Given the description of an element on the screen output the (x, y) to click on. 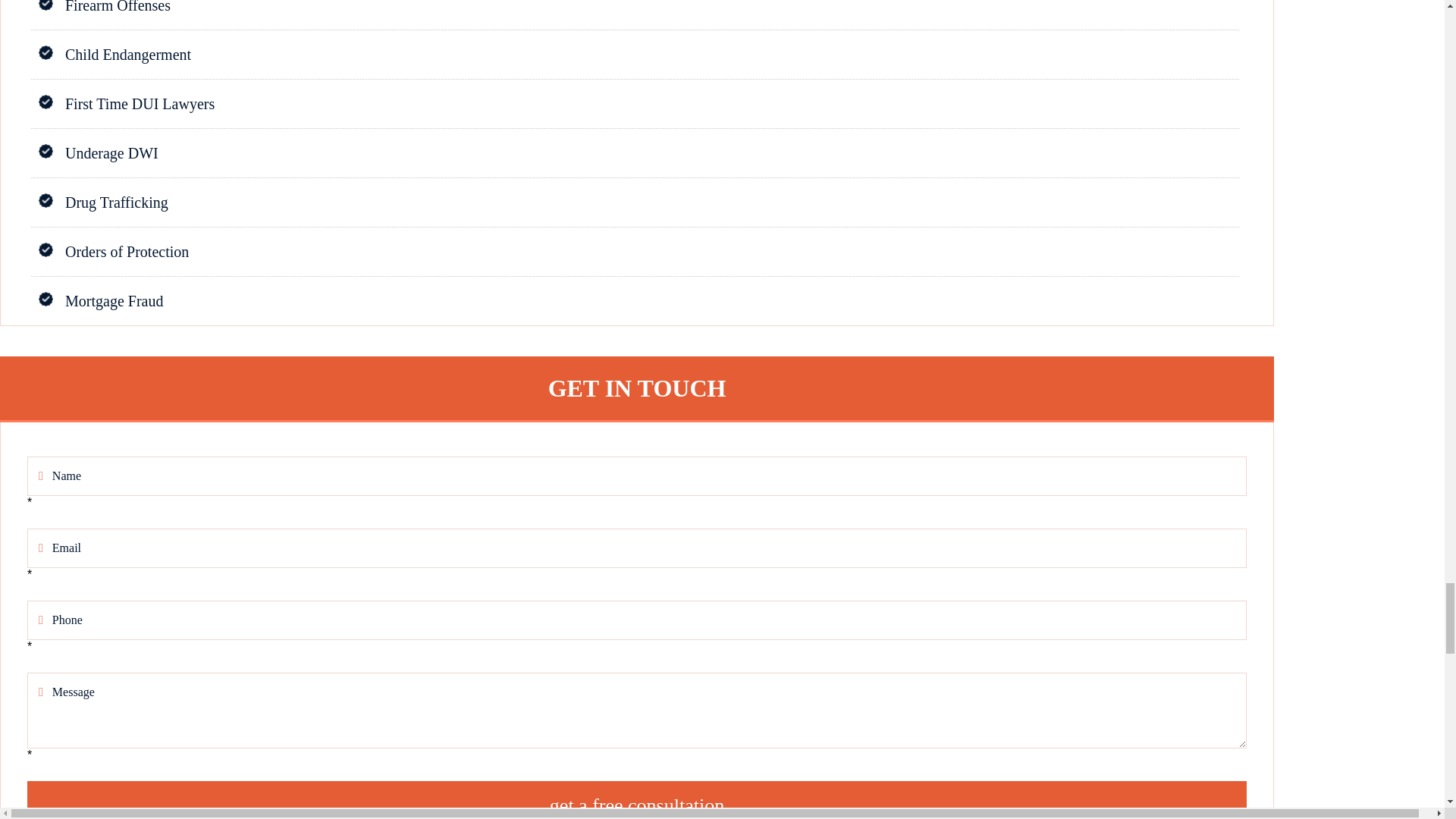
get a free consultation (636, 800)
